Given the description of an element on the screen output the (x, y) to click on. 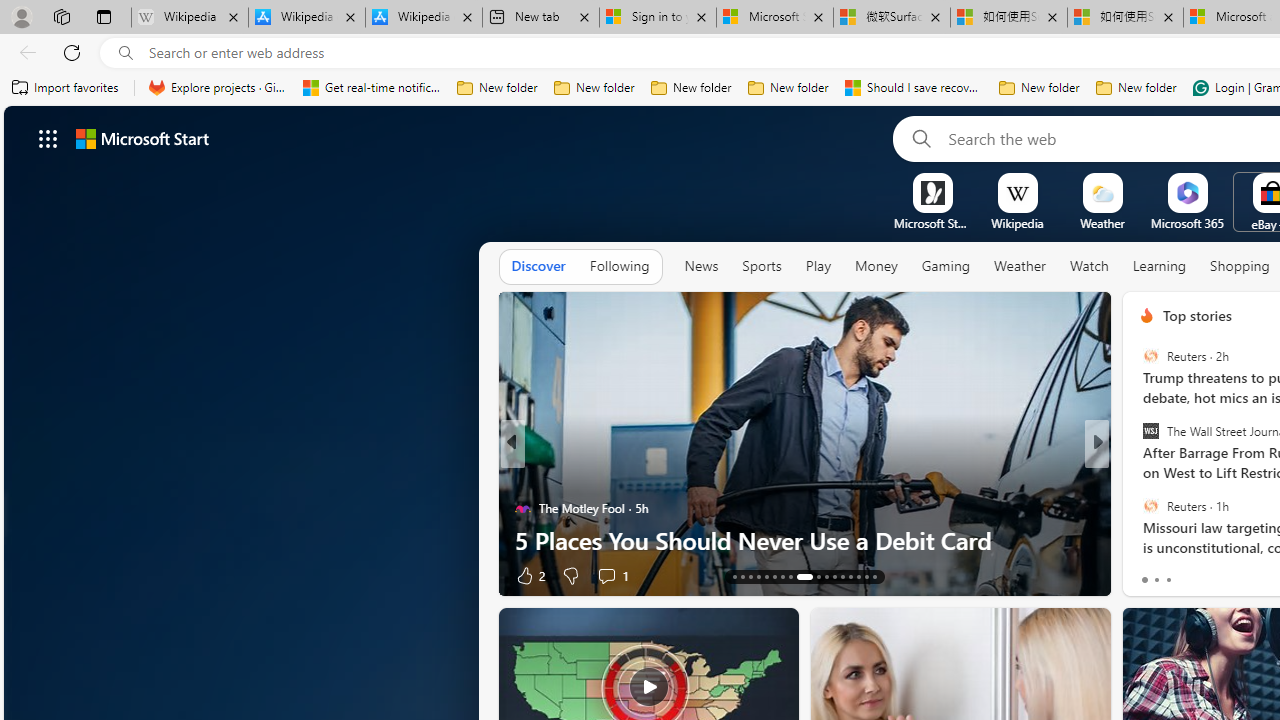
AutomationID: tab-24 (833, 576)
View comments 1 Comment (1229, 575)
tab-2 (1168, 579)
Sports (761, 267)
Microsoft start (142, 138)
View comments 1 Comment (1234, 574)
Weather (1019, 267)
Start the conversation (1222, 575)
ATP Fitness Pte Ltd (1180, 507)
1 Like (1145, 574)
